Given the description of an element on the screen output the (x, y) to click on. 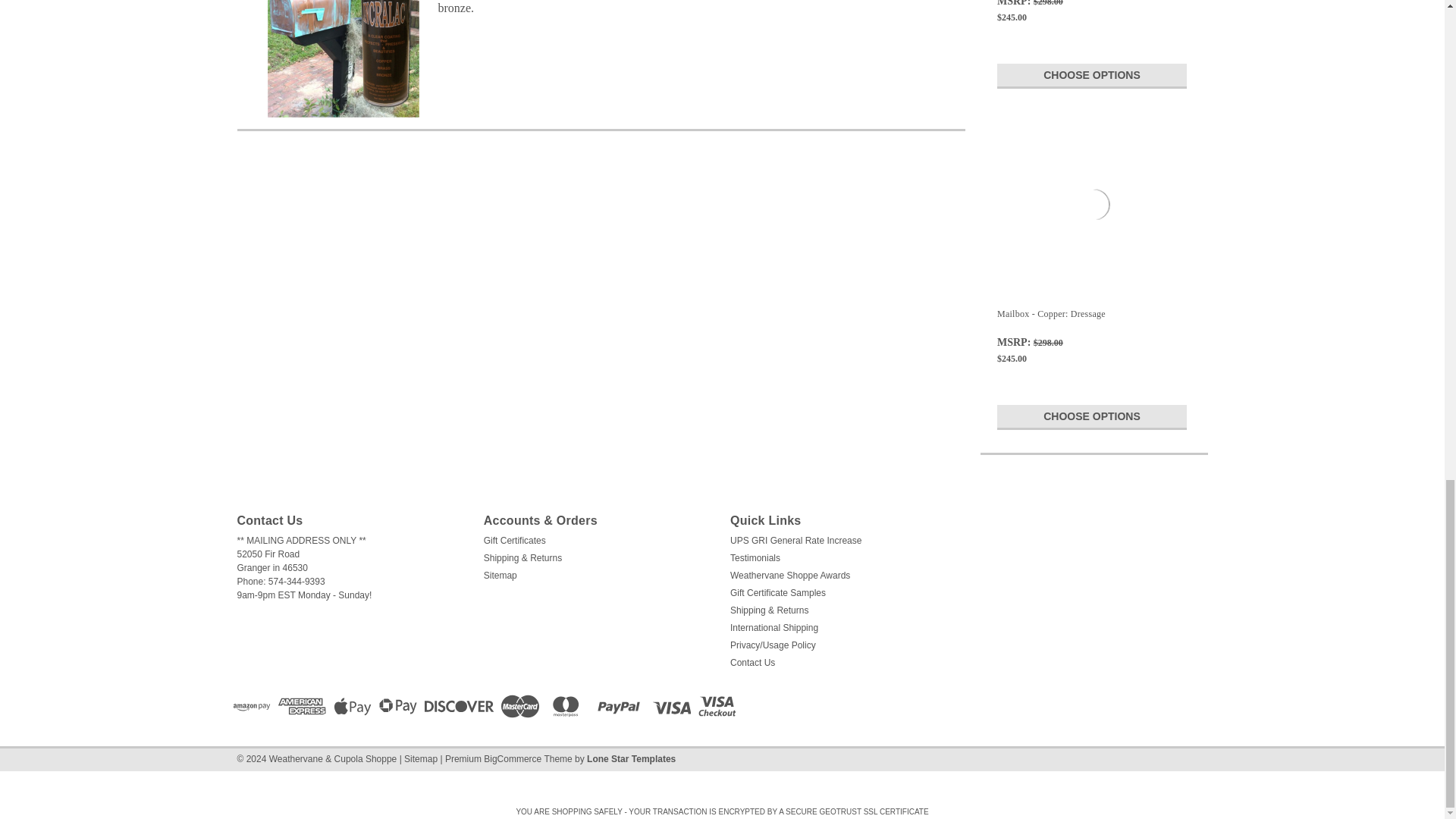
Mailbox - Copper: Dressage (1094, 204)
incralac-copper-coating.png (342, 58)
